Given the description of an element on the screen output the (x, y) to click on. 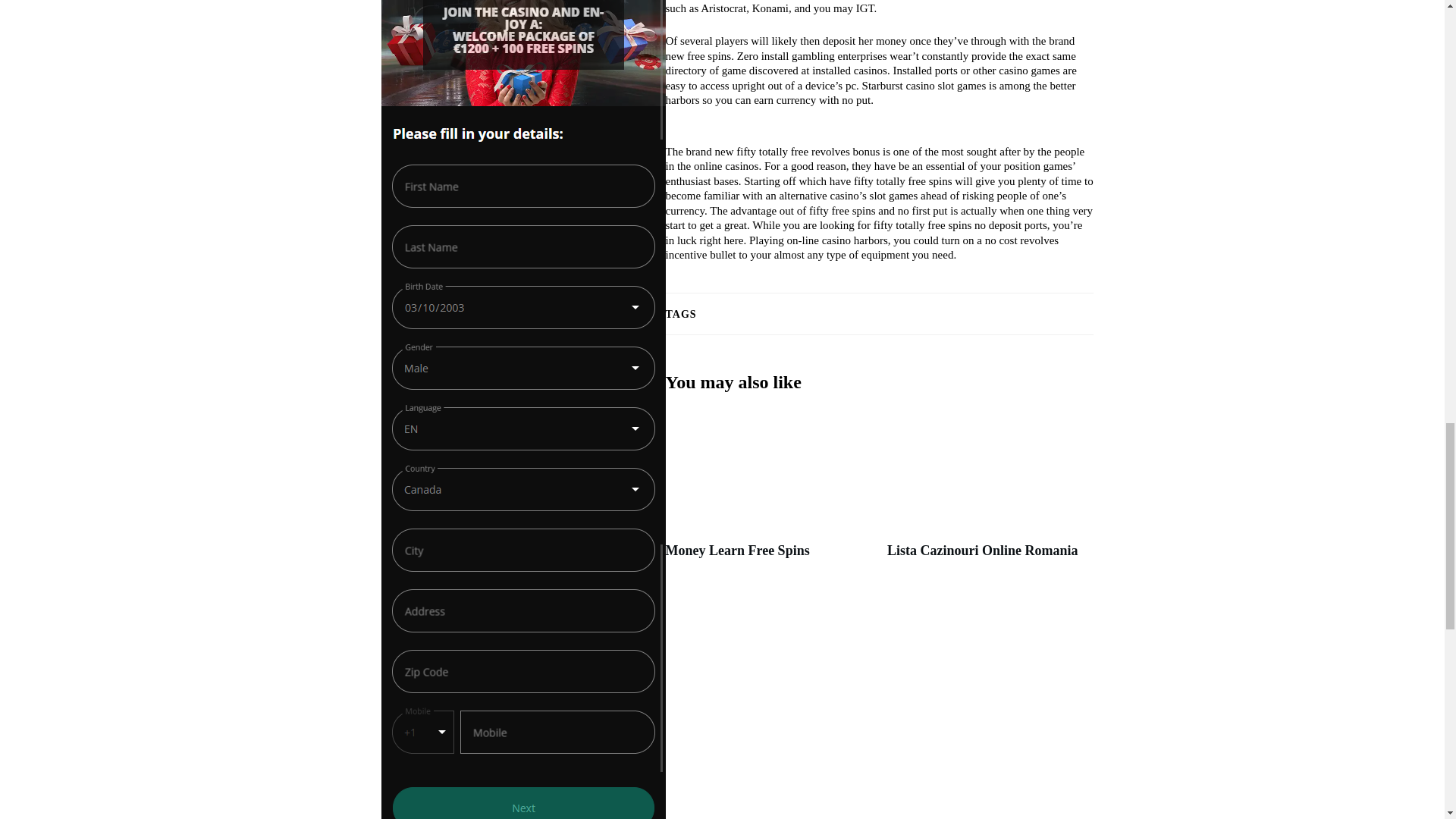
Lista Cazinouri Online Romania (990, 493)
Lista Cazinouri Online Romania (982, 549)
Lista Cazinouri Online Romania (982, 549)
Money Learn Free Spins (737, 549)
Money Learn Free Spins (737, 549)
Money Learn Free Spins (768, 493)
